Given the description of an element on the screen output the (x, y) to click on. 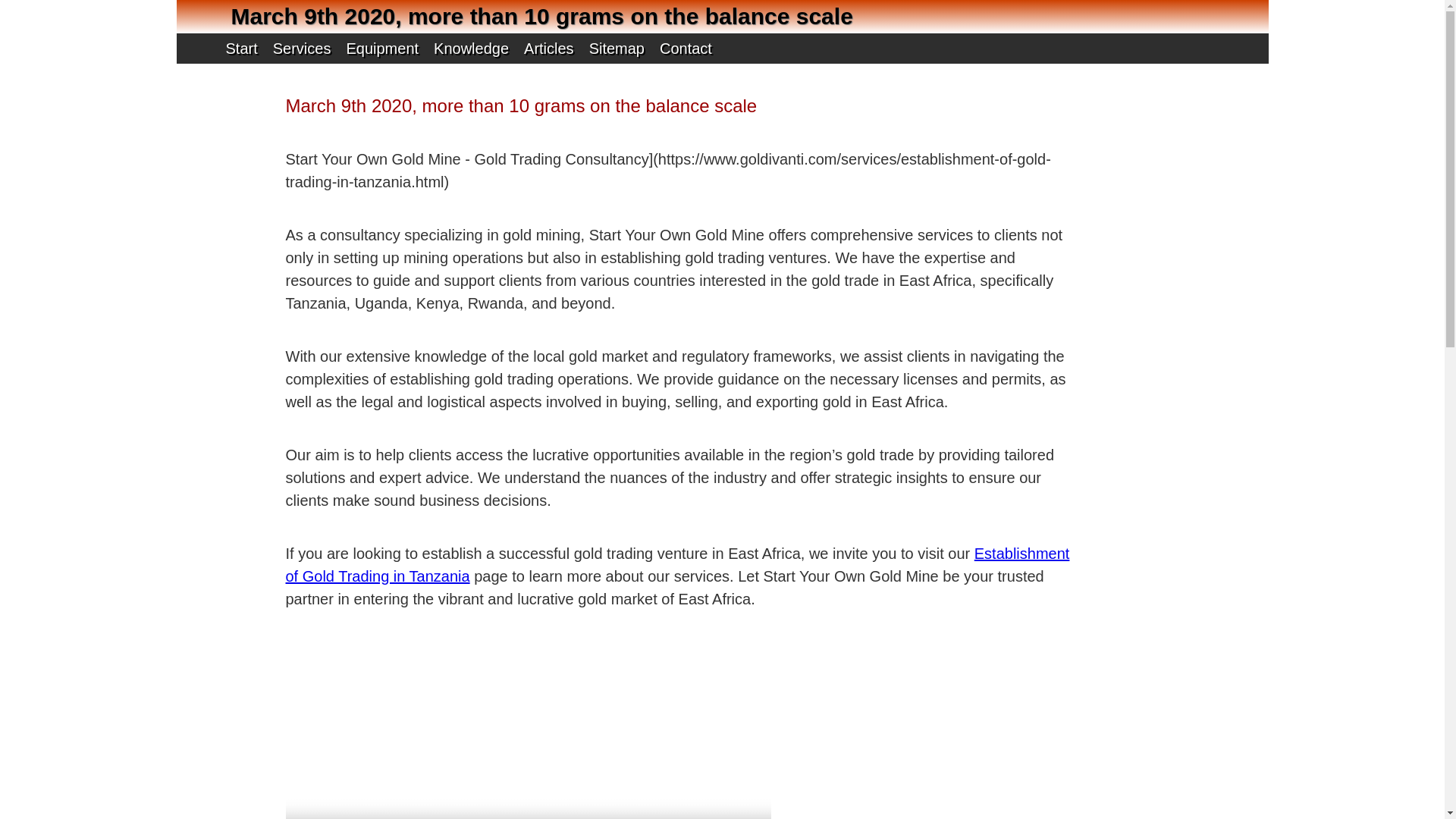
Sitemap (616, 48)
Services (301, 48)
Articles (548, 48)
Start (240, 48)
Establishment of Gold Trading in Tanzania (676, 564)
Contact (686, 48)
Equipment (382, 48)
Knowledge (470, 48)
